Given the description of an element on the screen output the (x, y) to click on. 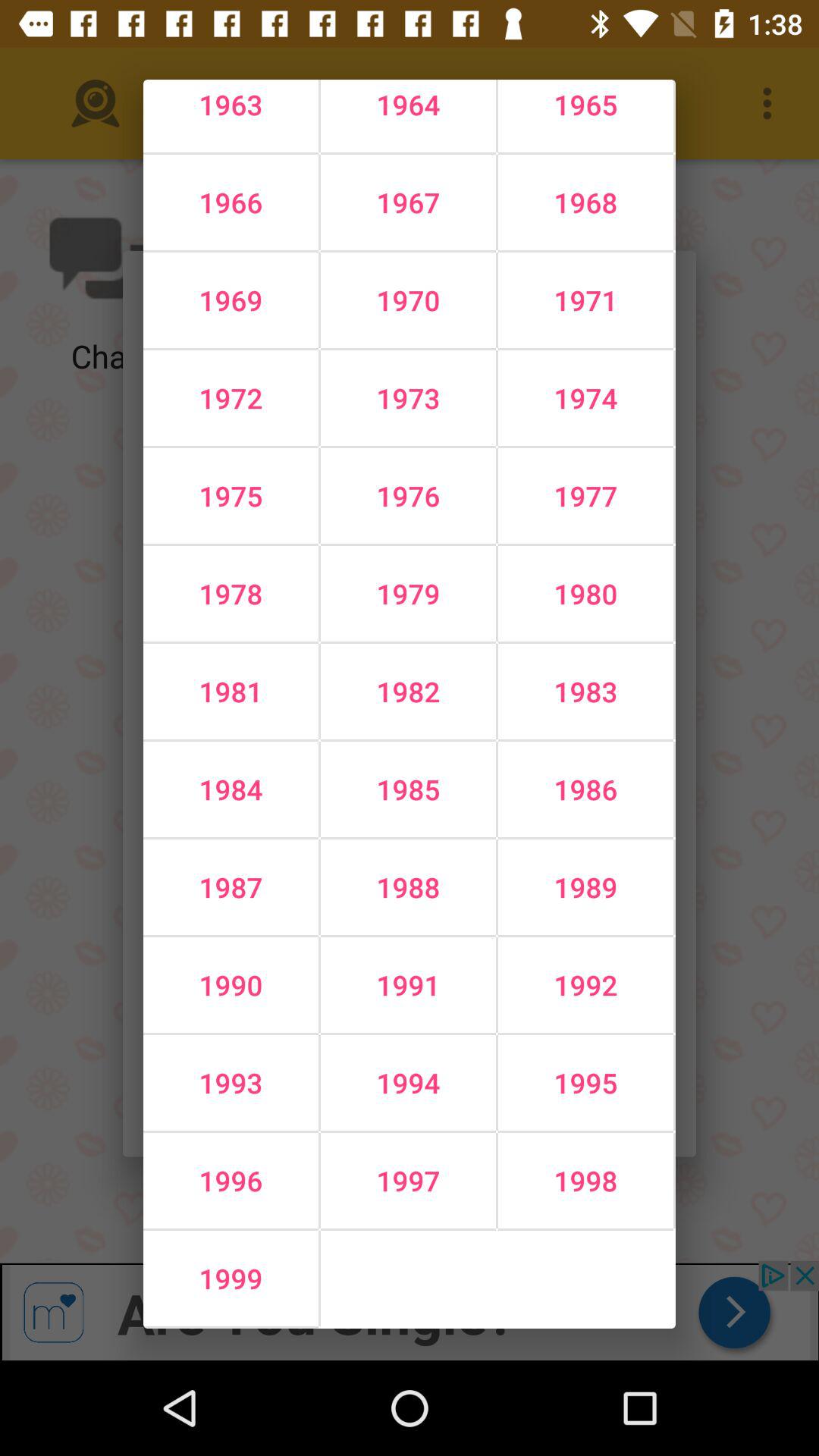
swipe to 1997 icon (407, 1180)
